Given the description of an element on the screen output the (x, y) to click on. 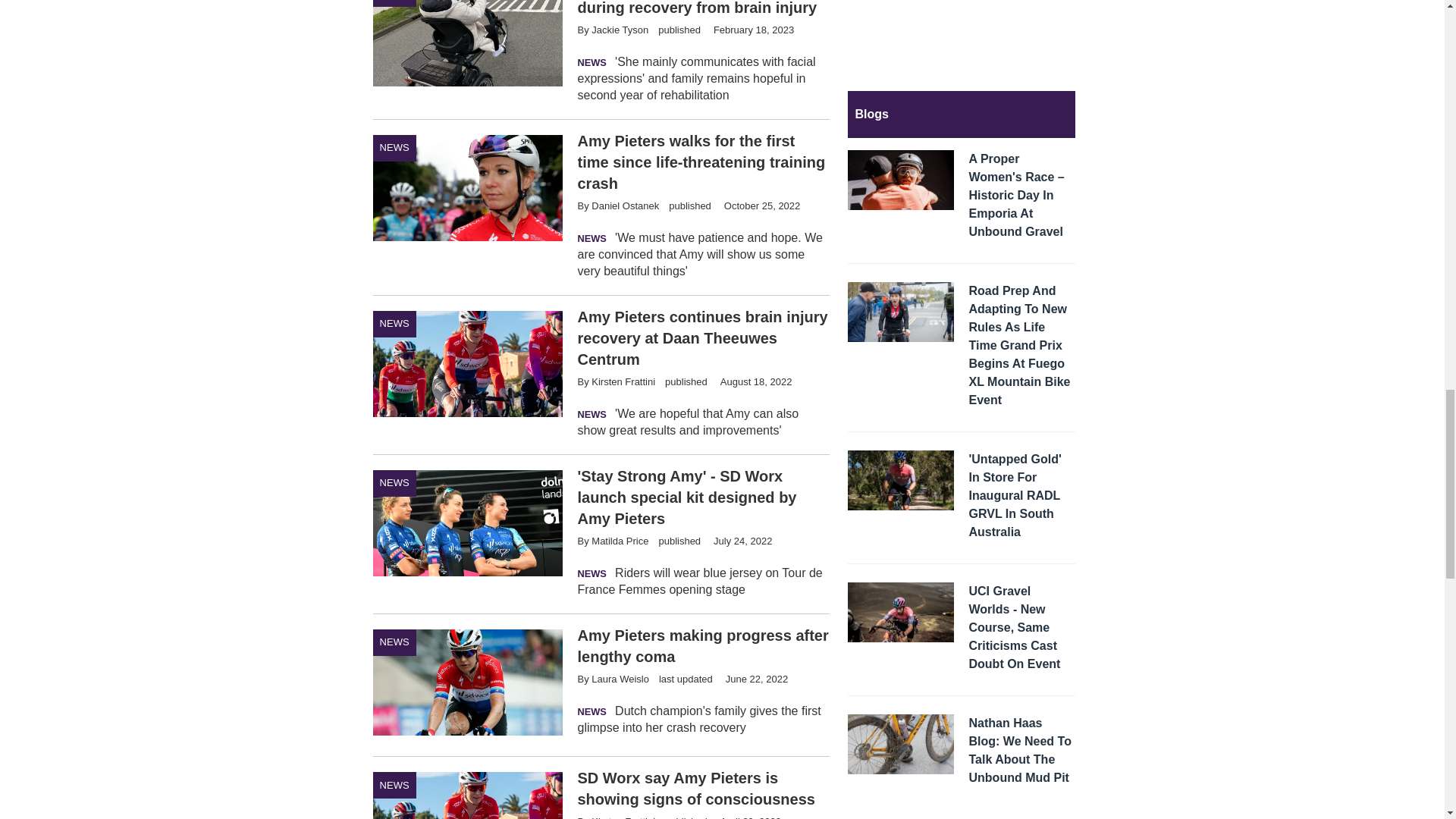
Nathan Haas blog: We need to talk about the Unbound mud pit (1022, 752)
